Given the description of an element on the screen output the (x, y) to click on. 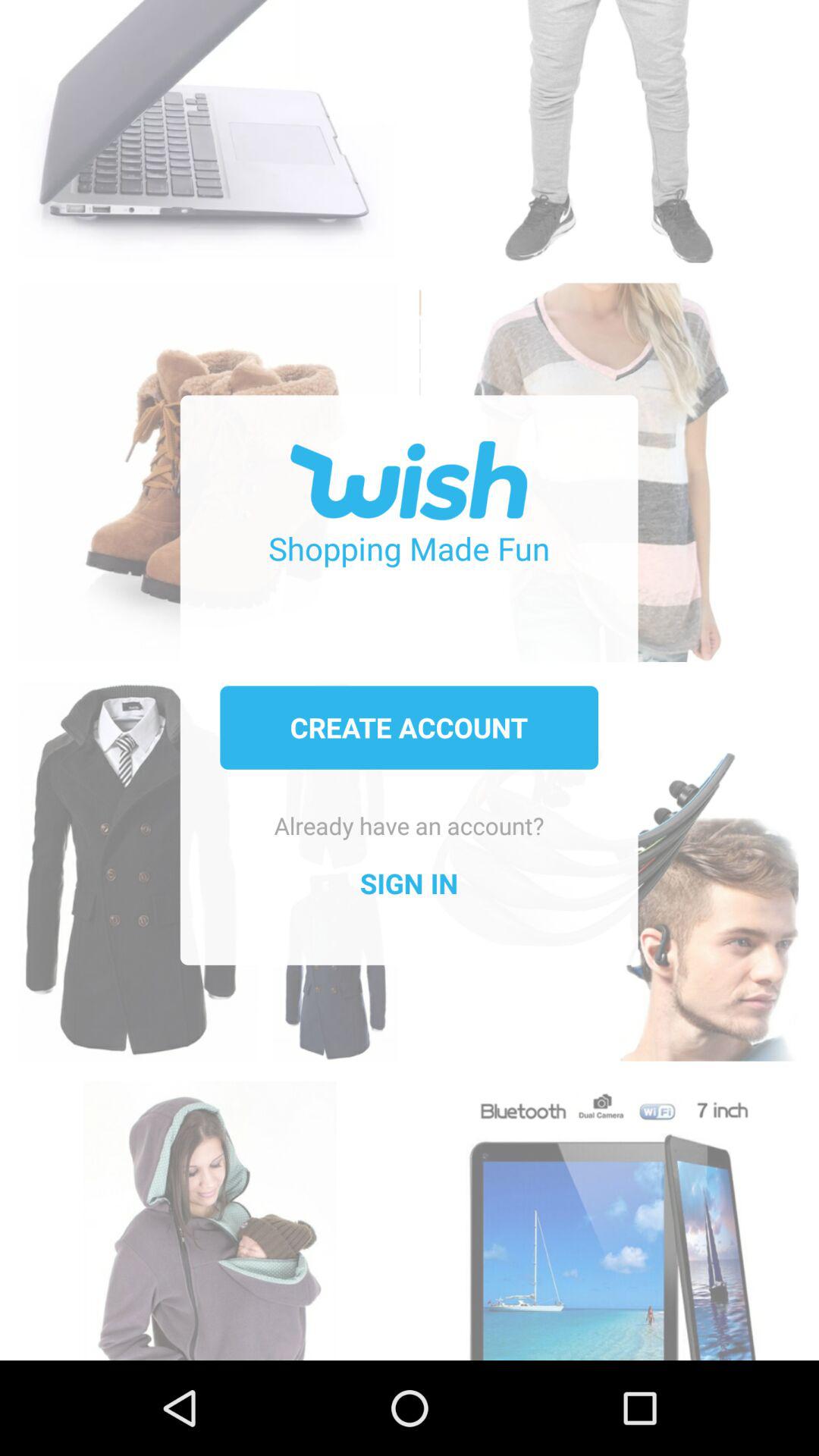
turn off item on the right (608, 855)
